Given the description of an element on the screen output the (x, y) to click on. 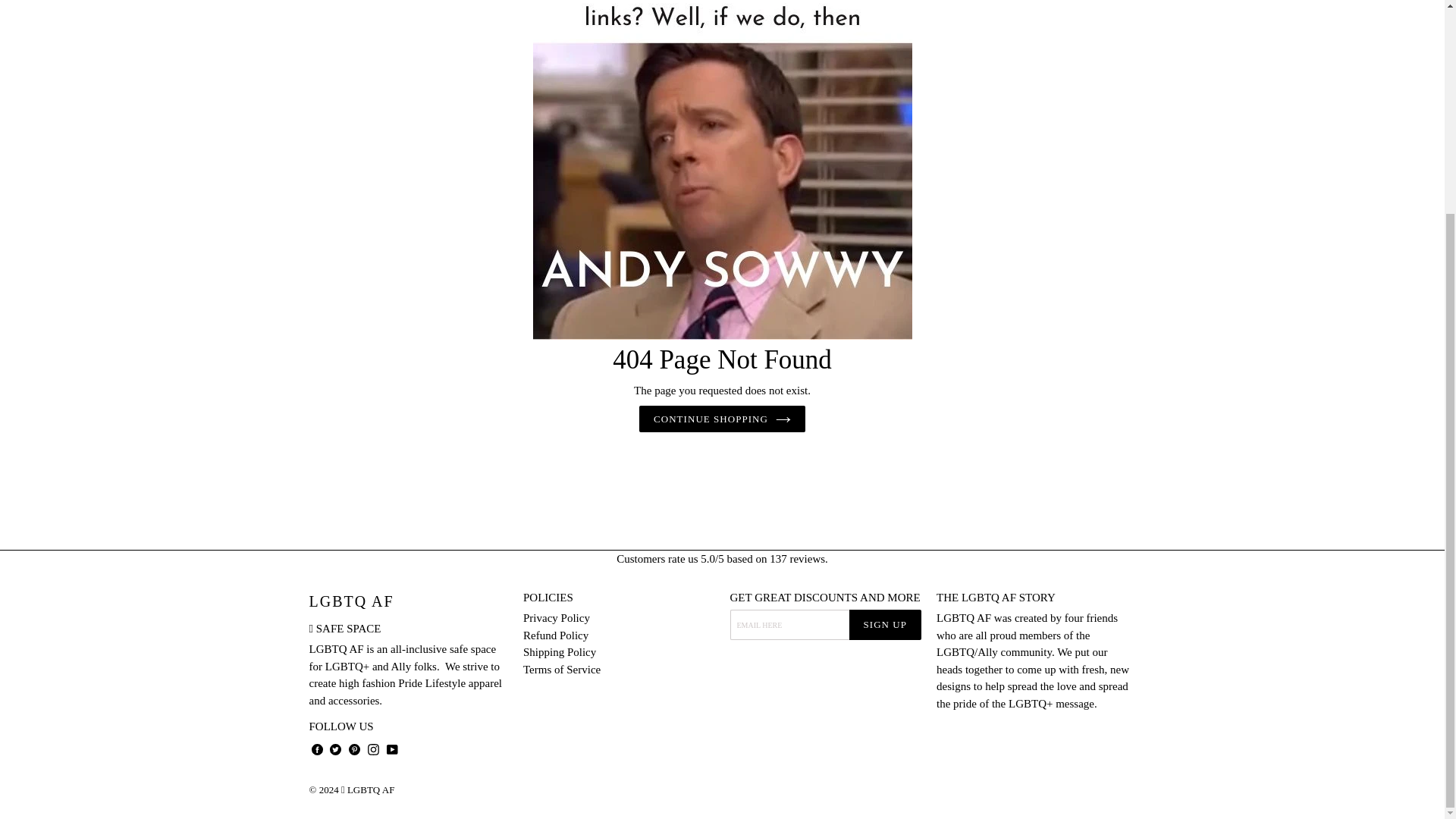
LGBTQ AF on Twitter (335, 748)
LGBTQ AF on Instagram (373, 748)
LGBTQ AF on Facebook (316, 748)
LGBTQ AF on Pinterest (354, 748)
LGBTQ AF on YouTube (391, 748)
